Given the description of an element on the screen output the (x, y) to click on. 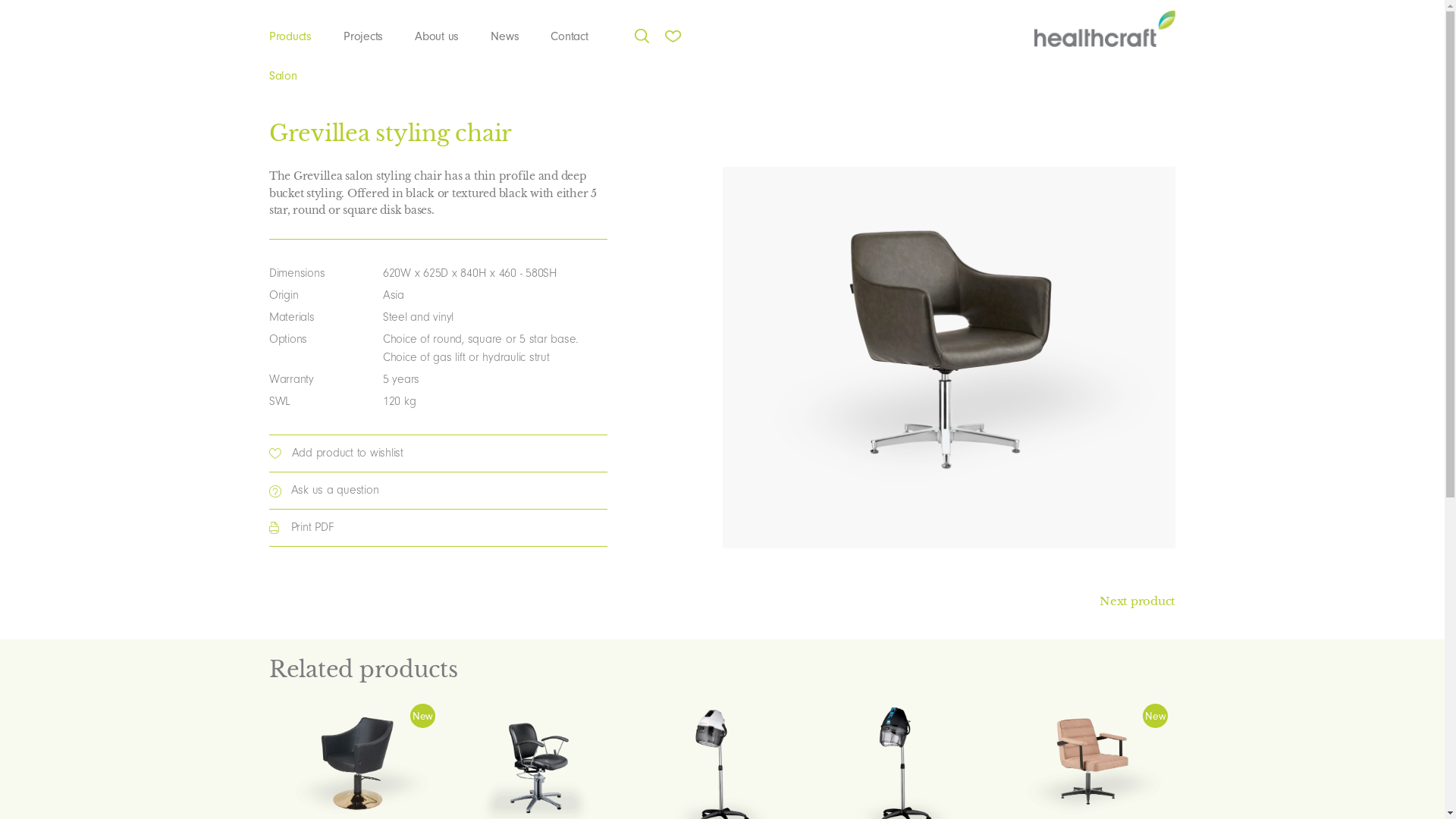
Healthcraft Furniture Element type: text (1103, 28)
Add product to wishlist Element type: text (347, 453)
About us Element type: text (436, 33)
Go to wishlist Element type: text (713, 33)
Next product Element type: text (1137, 600)
Blake-low-A Element type: hover (948, 357)
Contact Element type: text (569, 33)
Print PDF Element type: text (438, 527)
Search Element type: text (630, 31)
News Element type: text (504, 33)
Salon Element type: text (298, 74)
Ask us a question Element type: text (438, 490)
Products Element type: text (297, 33)
Projects Element type: text (363, 33)
